Given the description of an element on the screen output the (x, y) to click on. 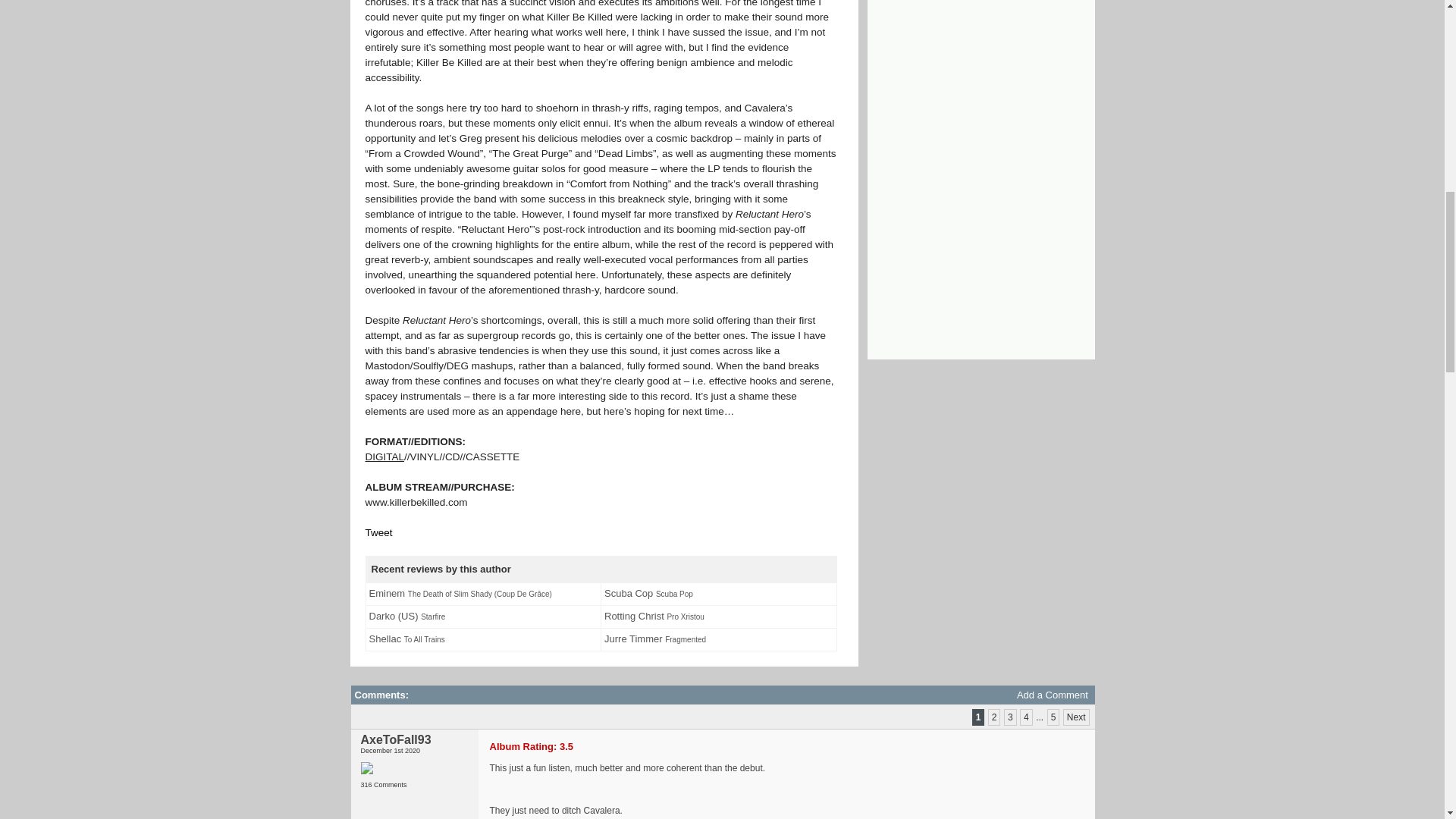
Add a Comment (1051, 694)
Rotting Christ Pro Xristou (654, 616)
Scuba Cop Scuba Pop (648, 594)
Shellac To All Trains (406, 639)
Tweet (379, 532)
Jurre Timmer Fragmented (655, 639)
